Given the description of an element on the screen output the (x, y) to click on. 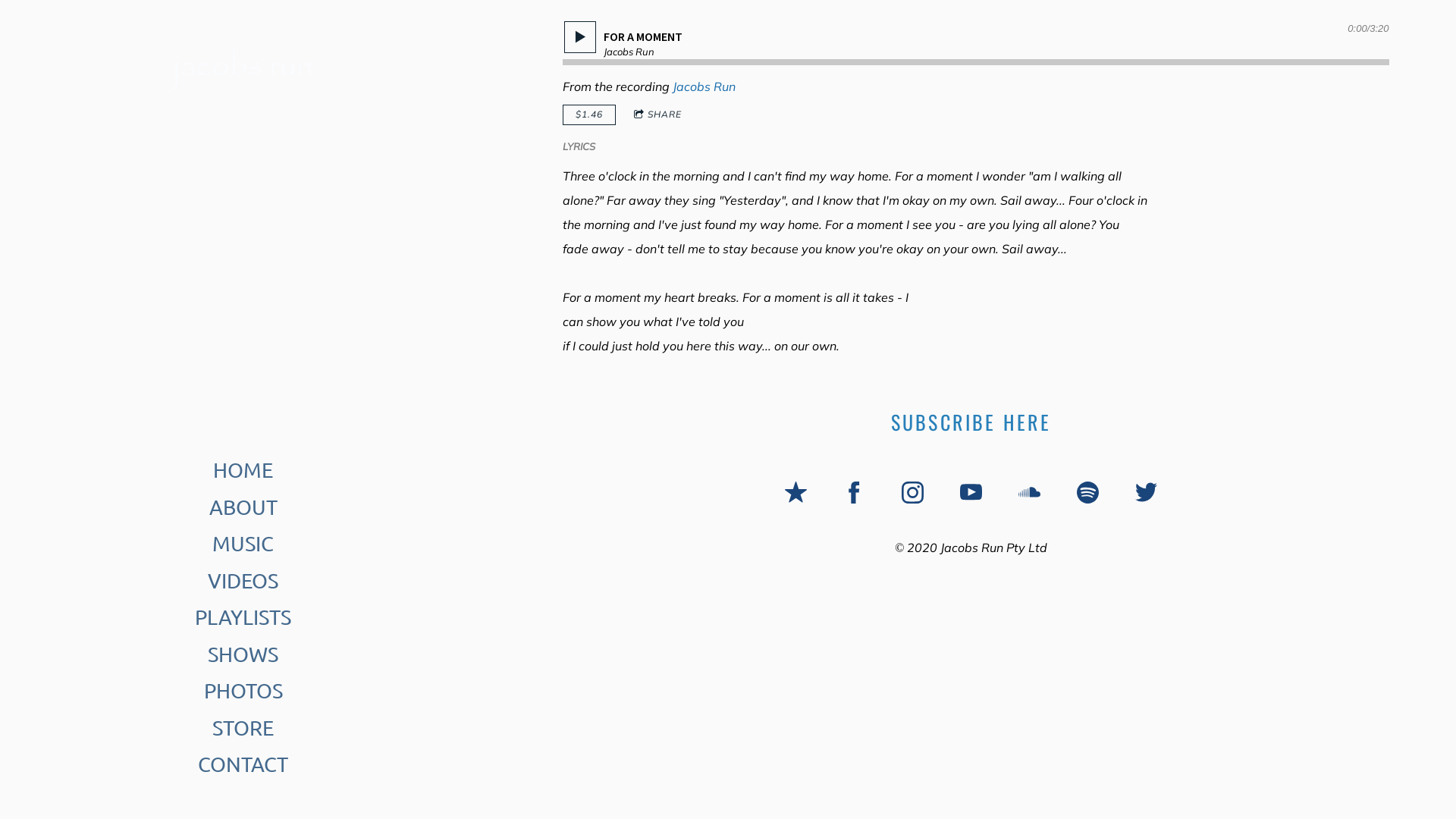
Jacobs Run Element type: text (703, 86)
$1.46 Element type: text (588, 114)
PLAYLISTS Element type: text (242, 617)
STORE Element type: text (242, 728)
SHOWS Element type: text (242, 654)
SUBSCRIBE HERE Element type: text (971, 421)
VIDEOS Element type: text (242, 581)
https://itunes.apple.com/us/artist/jacobs-run/1193099106 Element type: hover (795, 492)
MUSIC Element type: text (242, 543)
Play Element type: hover (580, 37)
https://twitter.com/jacobsrunband Element type: hover (1146, 492)
https://open.spotify.com/artist/6vfqHxgPuMacvHwNq64Mjg Element type: hover (1087, 492)
https://www.instagram.com/jacobsrunband Element type: hover (912, 492)
https://www.facebook.com/jacobsruntheband Element type: hover (854, 492)
CONTACT Element type: text (242, 764)
https://www.youtube.com/channel/UCdbiB964lvuRU3nLNgl6y7w Element type: hover (970, 492)
HOME Element type: text (243, 470)
jacobs run Element type: text (242, 67)
https://www.soundcloud.com/jacobsrunband Element type: hover (1029, 492)
ABOUT Element type: text (243, 507)
PHOTOS Element type: text (242, 690)
SHARE Element type: text (657, 114)
